Given the description of an element on the screen output the (x, y) to click on. 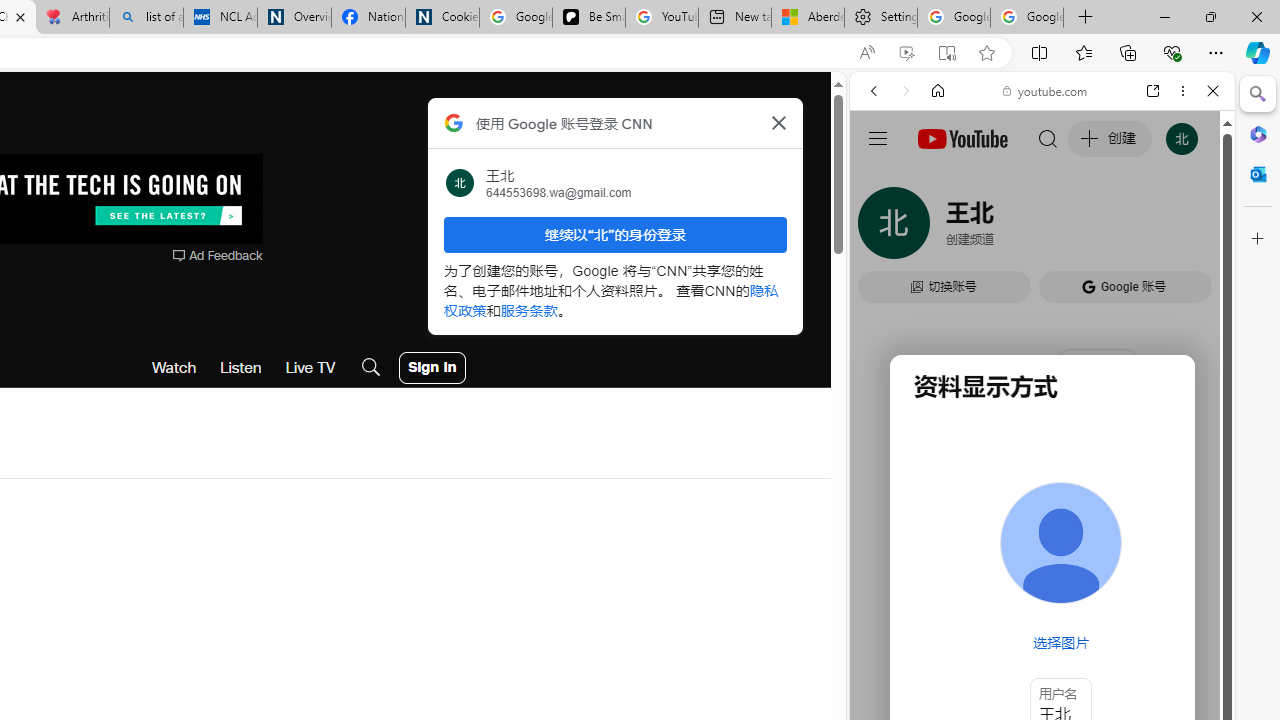
SEARCH TOOLS (1093, 228)
Be Smart | creating Science videos | Patreon (588, 17)
NCL Adult Asthma Inhaler Choice Guideline (220, 17)
Live TV (310, 367)
Forward (906, 91)
Search Filter, IMAGES (939, 228)
